Given the description of an element on the screen output the (x, y) to click on. 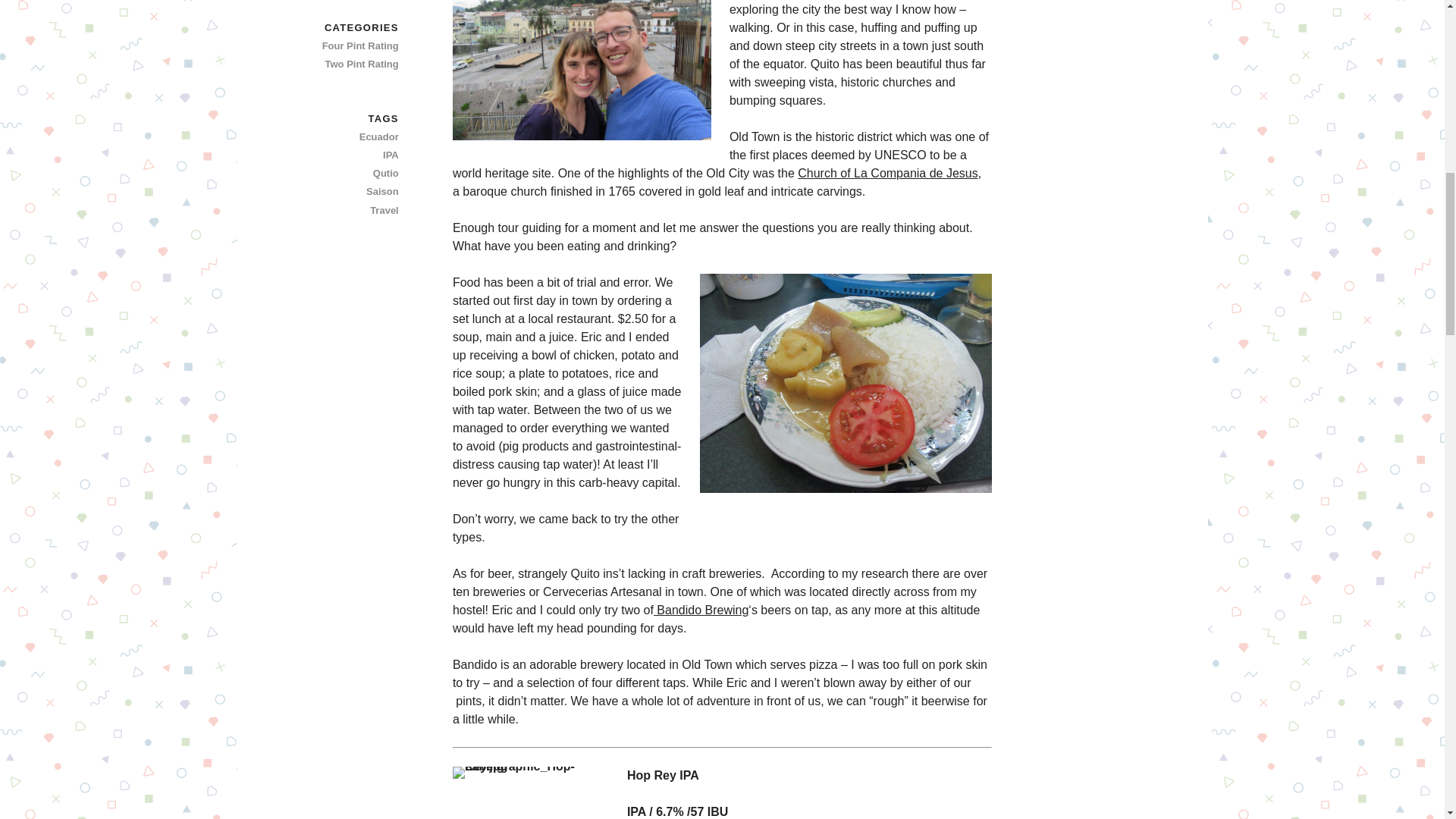
IPA (344, 155)
View all posts tagged Qutio (344, 173)
Ecuador (344, 136)
Travel (344, 210)
Church of La Compania de Jesus (886, 173)
Bandido Brewing (700, 609)
View all posts in Four Pint Rating (344, 45)
View all posts tagged IPA (344, 155)
View all posts tagged Travel (344, 210)
View all posts tagged Saison (344, 191)
View all posts tagged Ecuador (344, 136)
Saison (344, 191)
Four Pint Rating (344, 45)
Two Pint Rating (344, 64)
Qutio (344, 173)
